Given the description of an element on the screen output the (x, y) to click on. 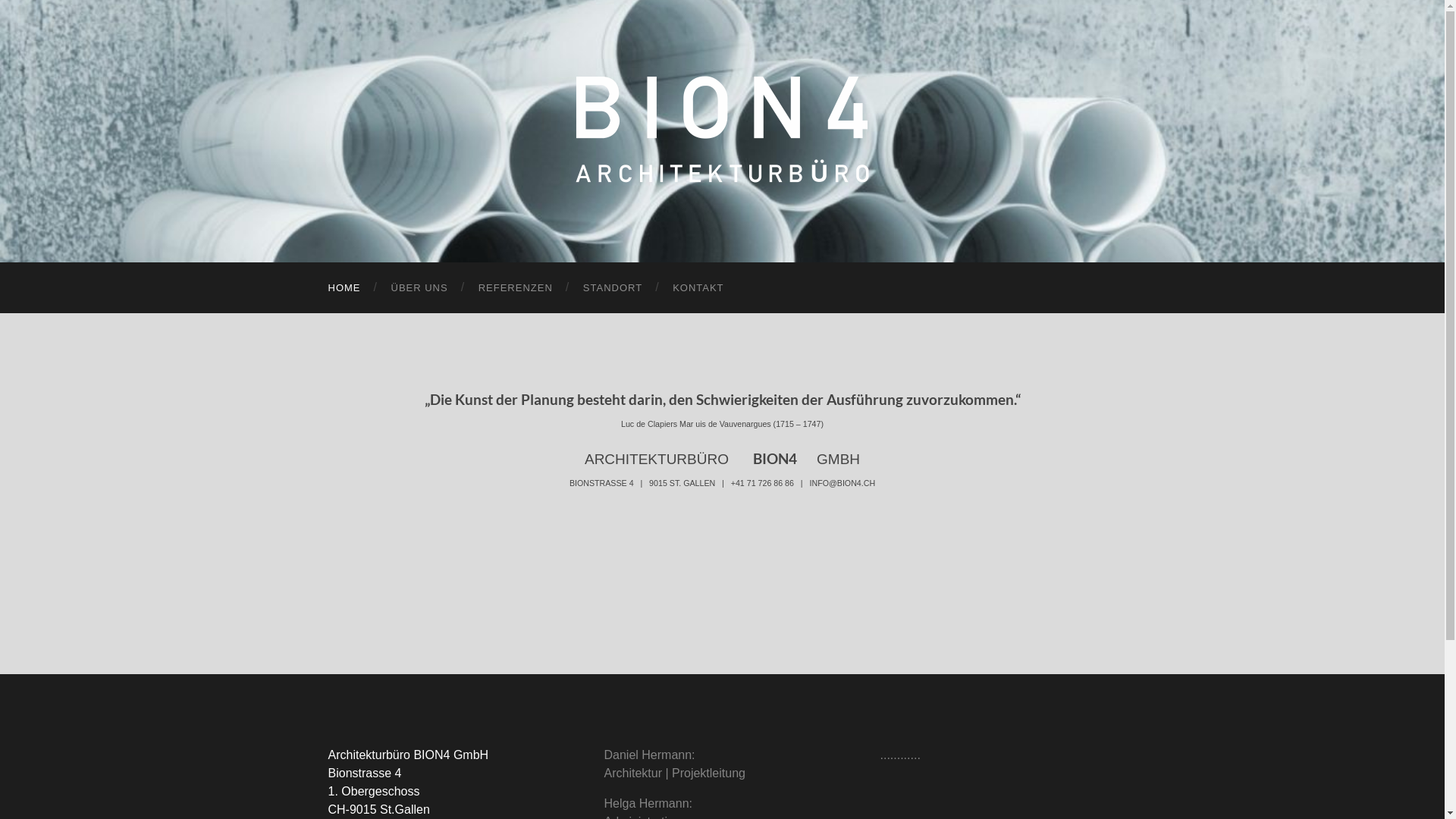
STANDORT Element type: text (612, 287)
REFERENZEN Element type: text (515, 287)
HOME Element type: text (343, 287)
KONTAKT Element type: text (697, 287)
